Given the description of an element on the screen output the (x, y) to click on. 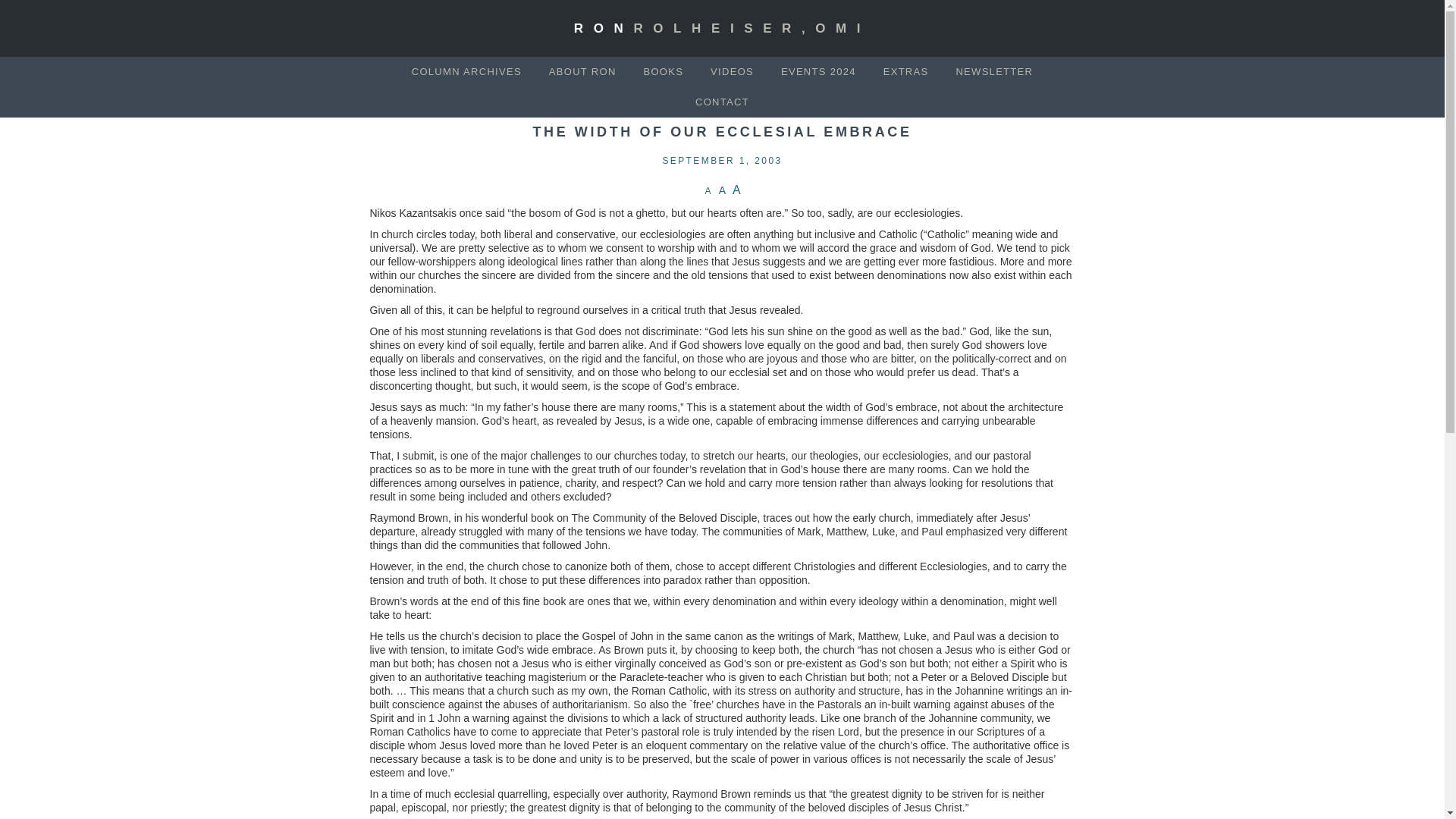
COLUMN ARCHIVES (466, 71)
VIDEOS (732, 71)
BOOKS (662, 71)
RONROLHEISER,OMI (721, 28)
ABOUT RON (581, 71)
EXTRAS (905, 71)
NEWSLETTER (993, 71)
EVENTS 2024 (818, 71)
CONTACT (722, 101)
